Given the description of an element on the screen output the (x, y) to click on. 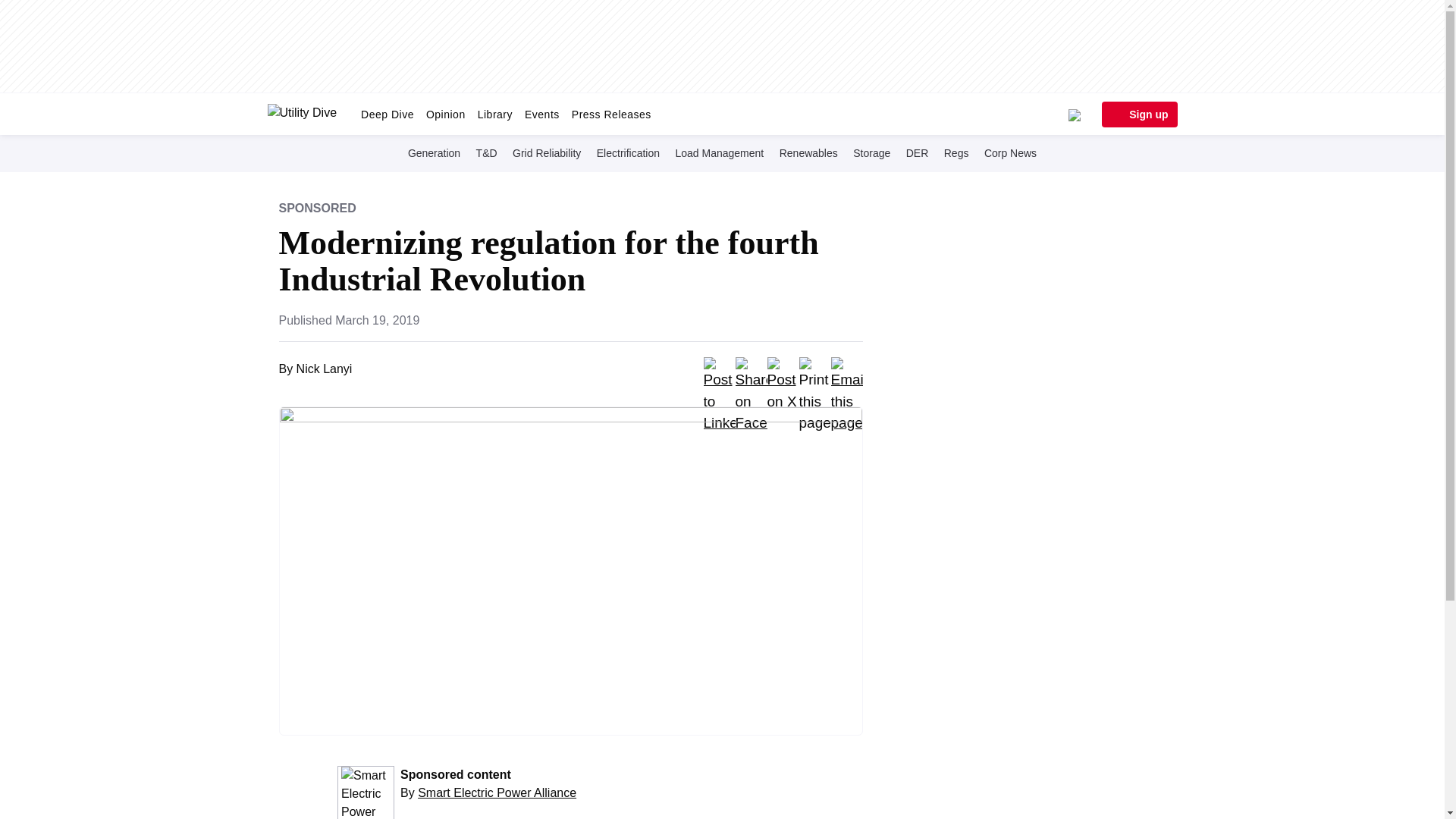
Opinion (445, 114)
Load Management (719, 152)
Library (494, 114)
Deep Dive (387, 114)
Grid Reliability (546, 152)
Generation (433, 152)
Renewables (808, 152)
Sign up (1138, 114)
Smart Electric Power Alliance (496, 792)
Storage (871, 152)
